Given the description of an element on the screen output the (x, y) to click on. 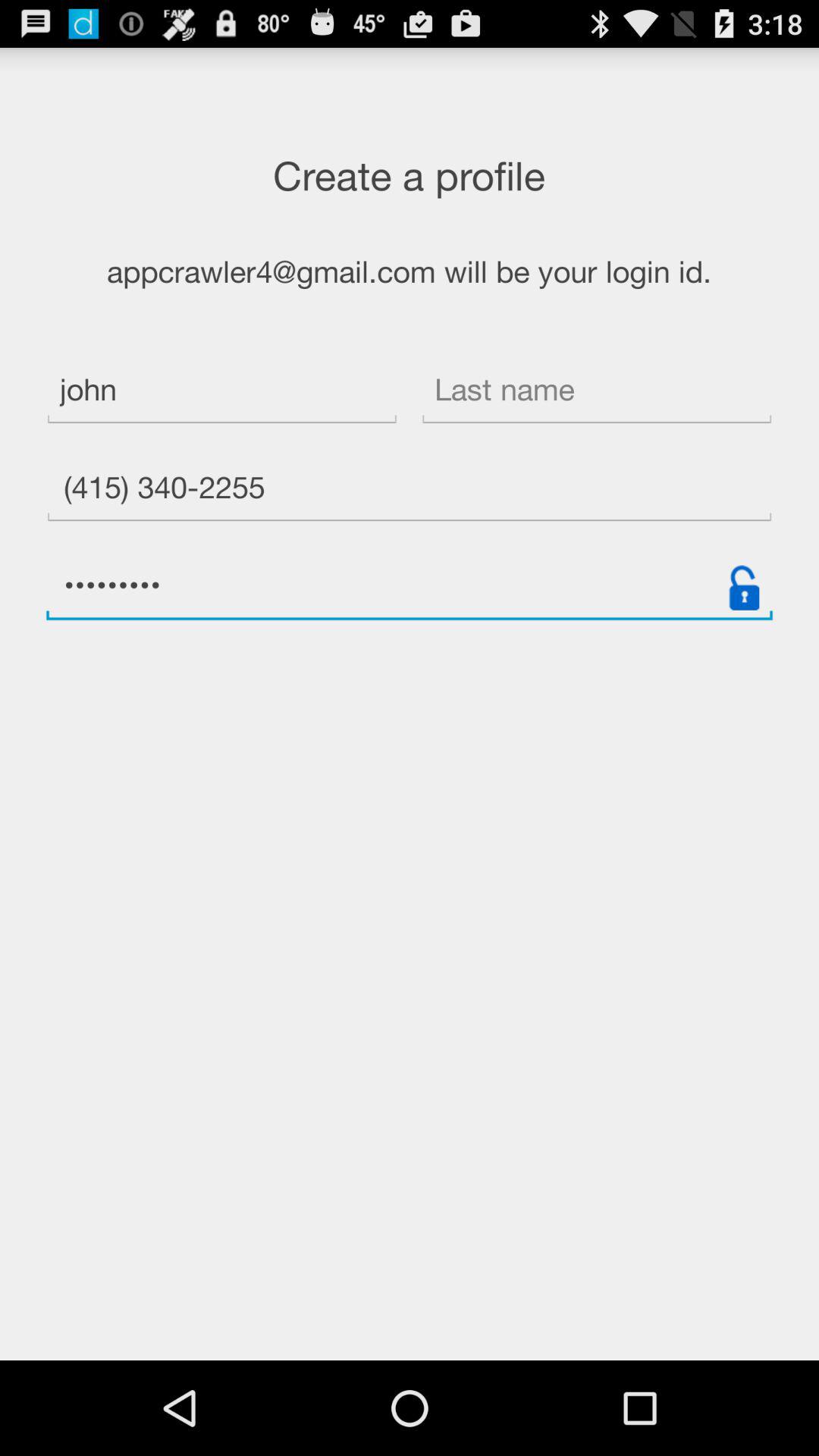
swipe to the (415) 340-2255 icon (409, 489)
